Given the description of an element on the screen output the (x, y) to click on. 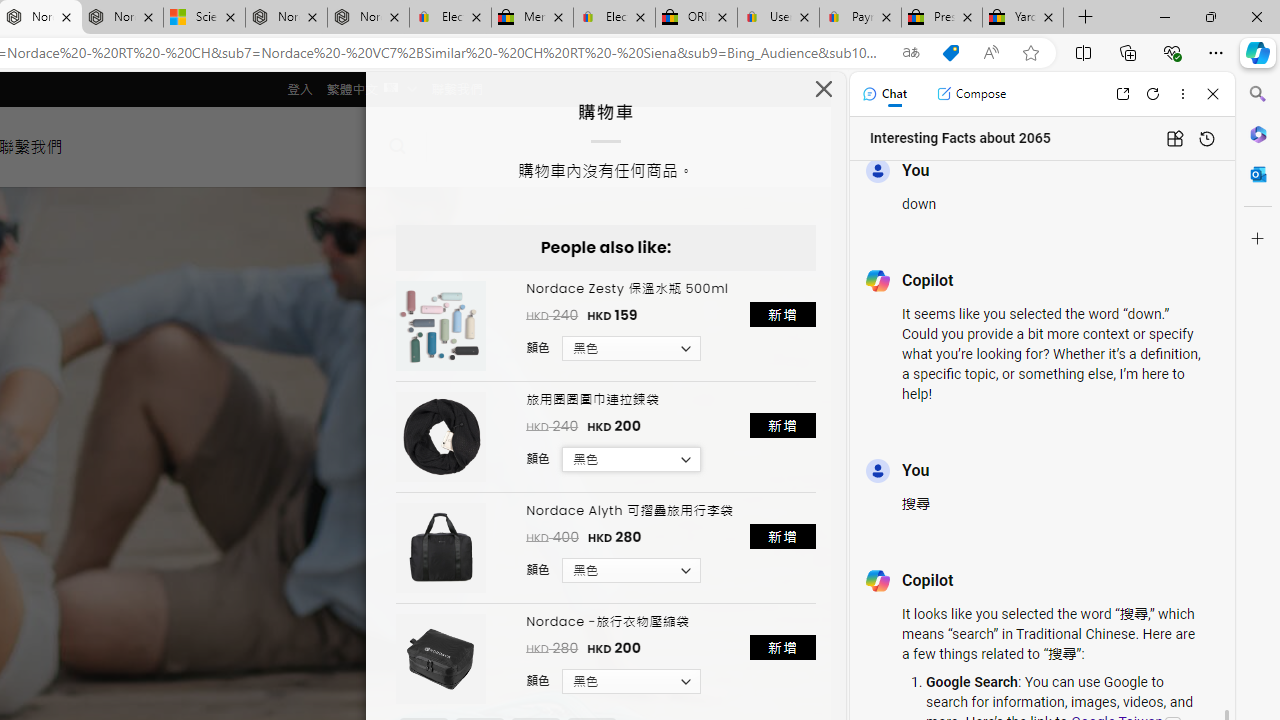
Chat (884, 93)
Electronics, Cars, Fashion, Collectibles & More | eBay (614, 17)
Close (Esc) (824, 93)
